Given the description of an element on the screen output the (x, y) to click on. 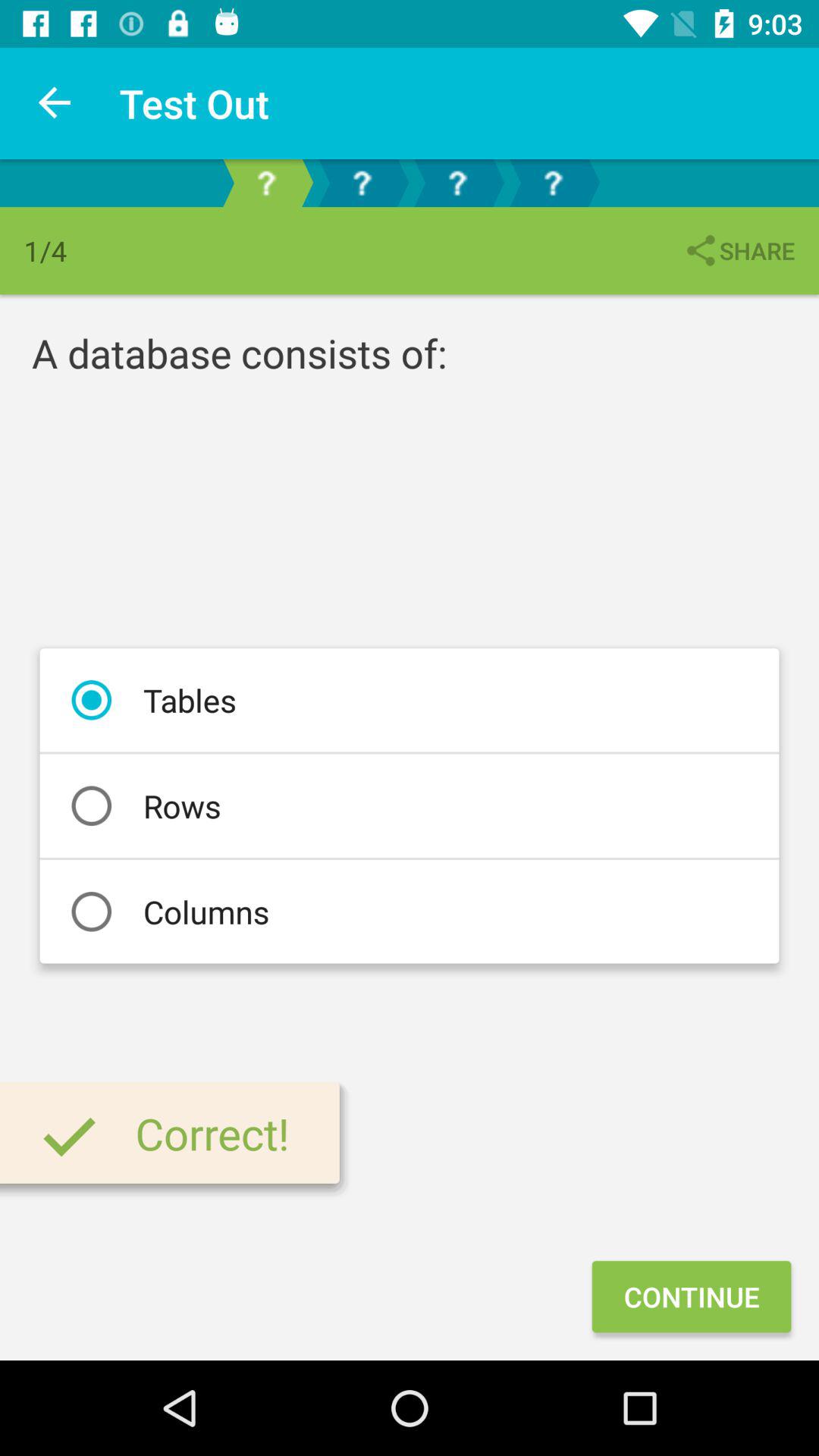
question mark option (361, 183)
